Given the description of an element on the screen output the (x, y) to click on. 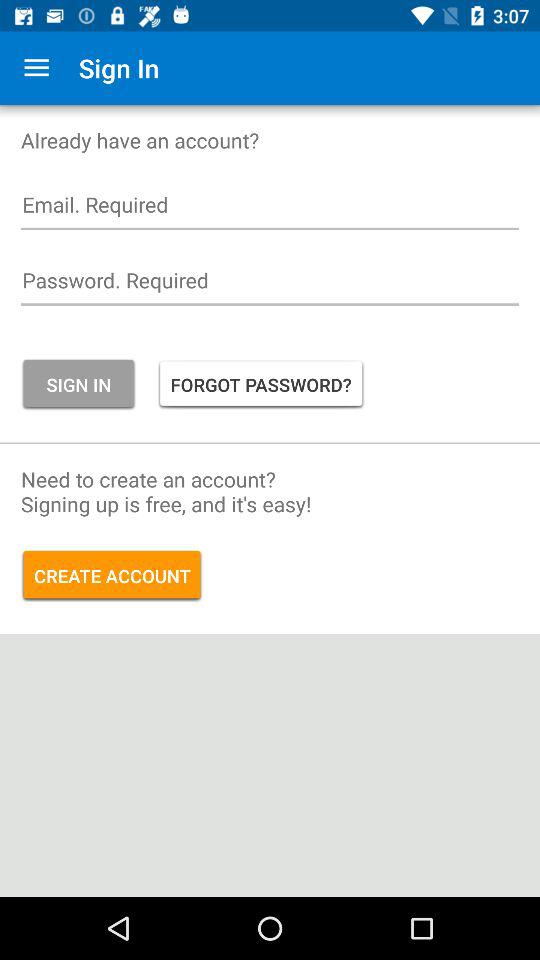
turn off the item below the already have an icon (270, 209)
